Given the description of an element on the screen output the (x, y) to click on. 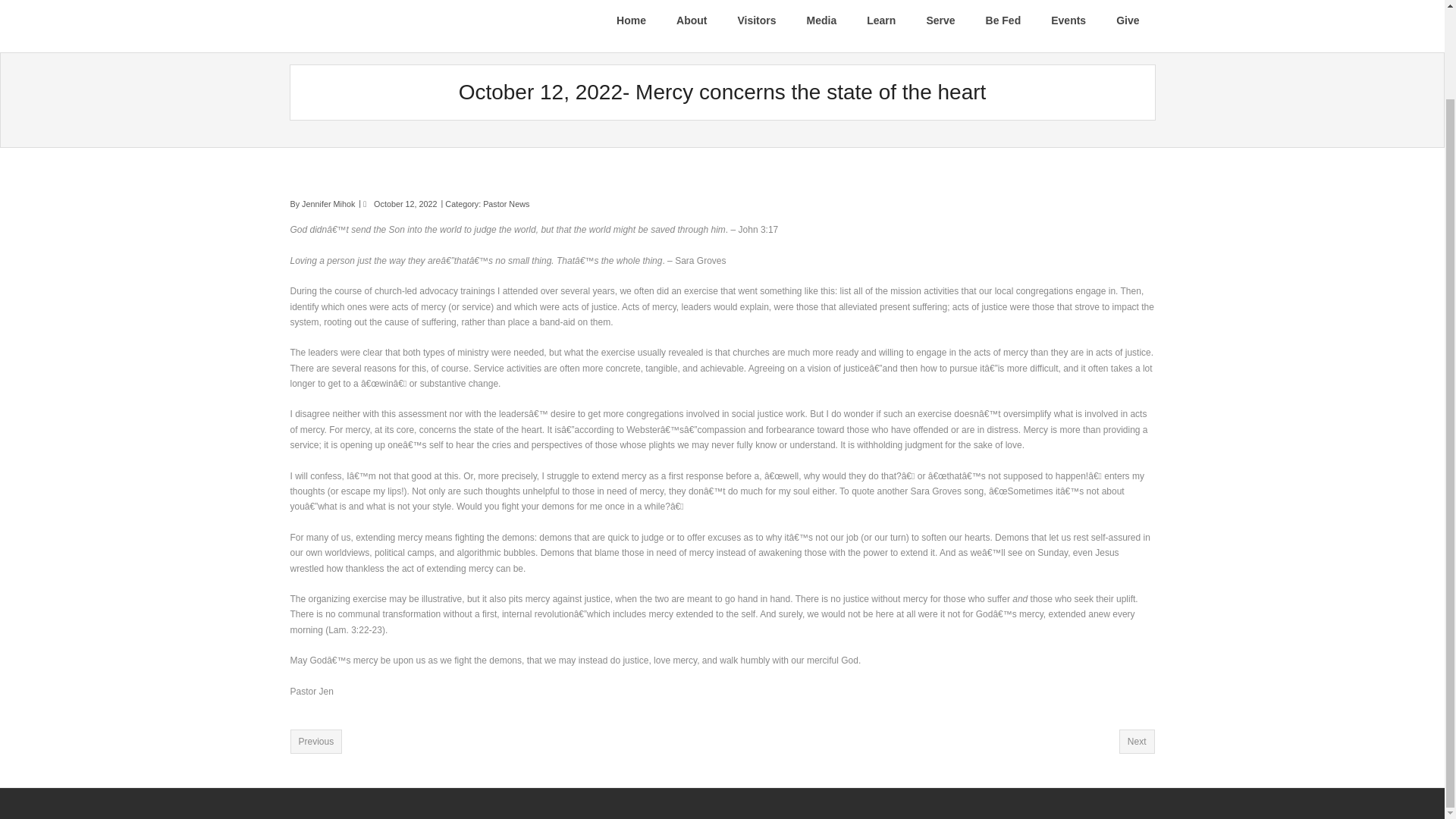
View all posts by Jennifer Mihok (328, 203)
Visitors (756, 26)
Media (821, 26)
Learn (881, 26)
Be Fed (1003, 26)
October 12, 2022- Mercy concerns the state of the heart (405, 203)
Serve (940, 26)
Home (631, 26)
Events (1067, 26)
About (691, 26)
